Given the description of an element on the screen output the (x, y) to click on. 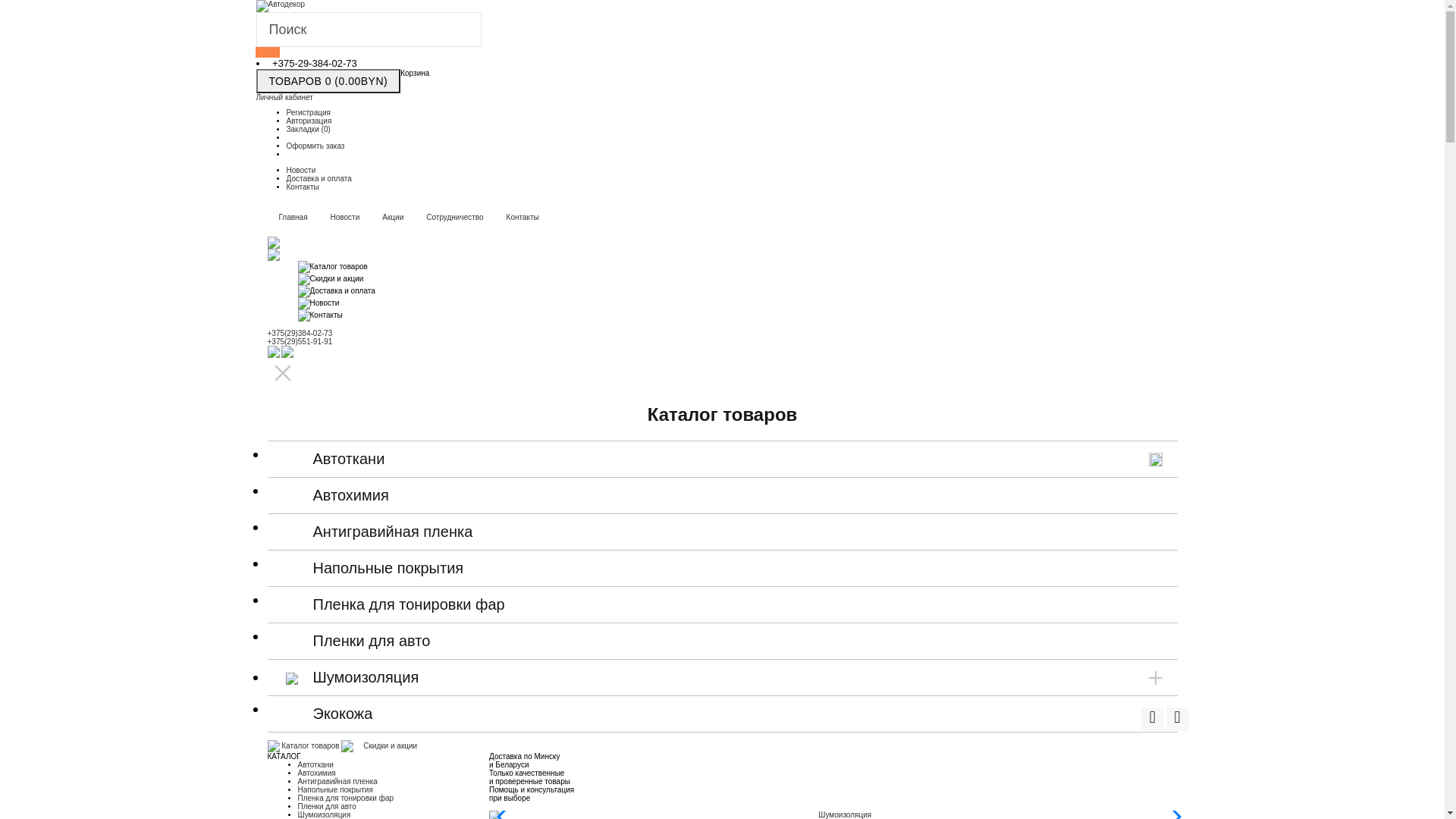
  Element type: text (1177, 718)
  Element type: text (1152, 718)
+375(29)551-91-91 Element type: text (299, 341)
+375(29)384-02-73 Element type: text (299, 333)
